Given the description of an element on the screen output the (x, y) to click on. 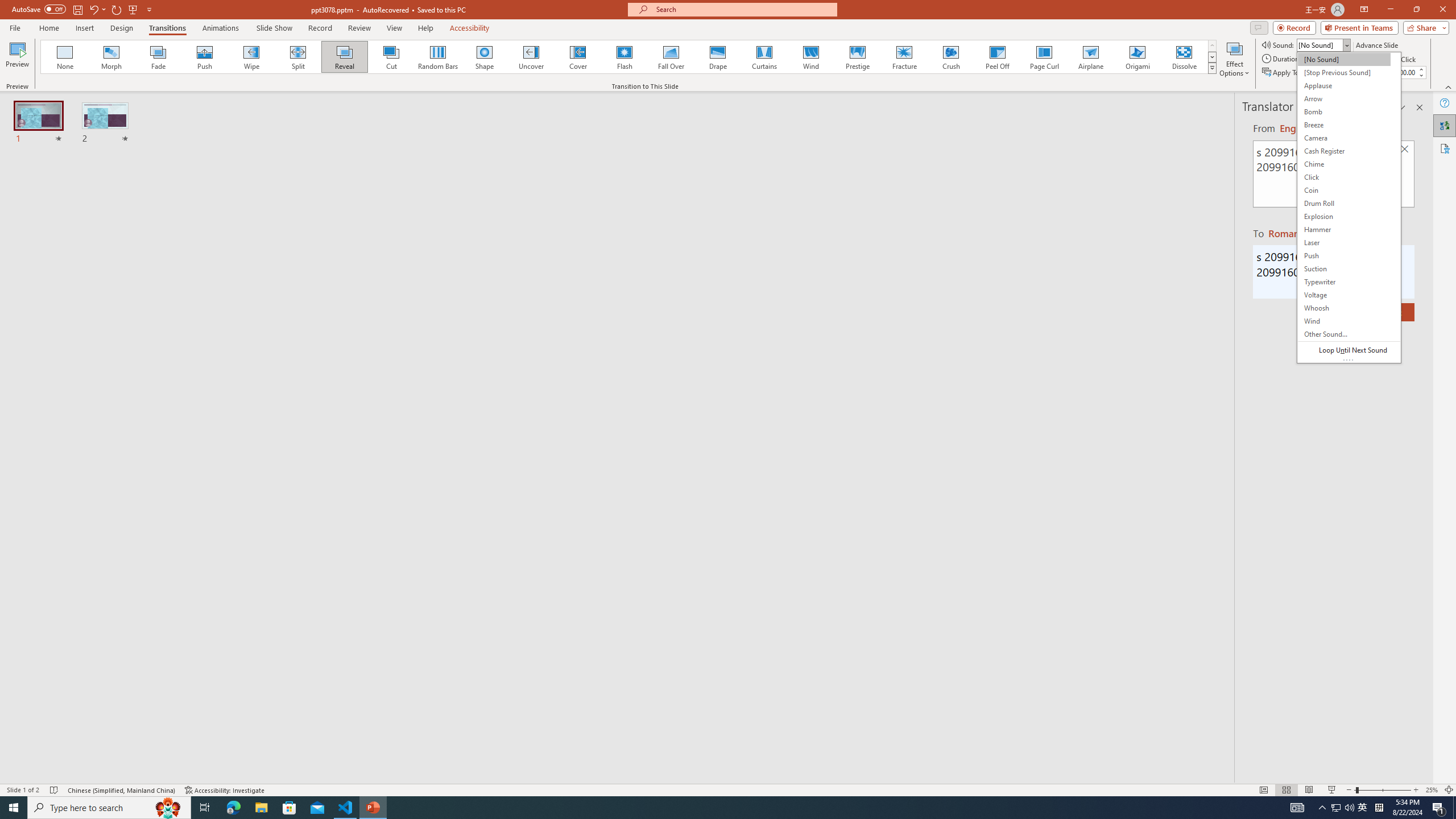
Flash (624, 56)
Cover (577, 56)
Page Curl (1043, 56)
Push (205, 56)
Action Center, 1 new notification (1439, 807)
